Given the description of an element on the screen output the (x, y) to click on. 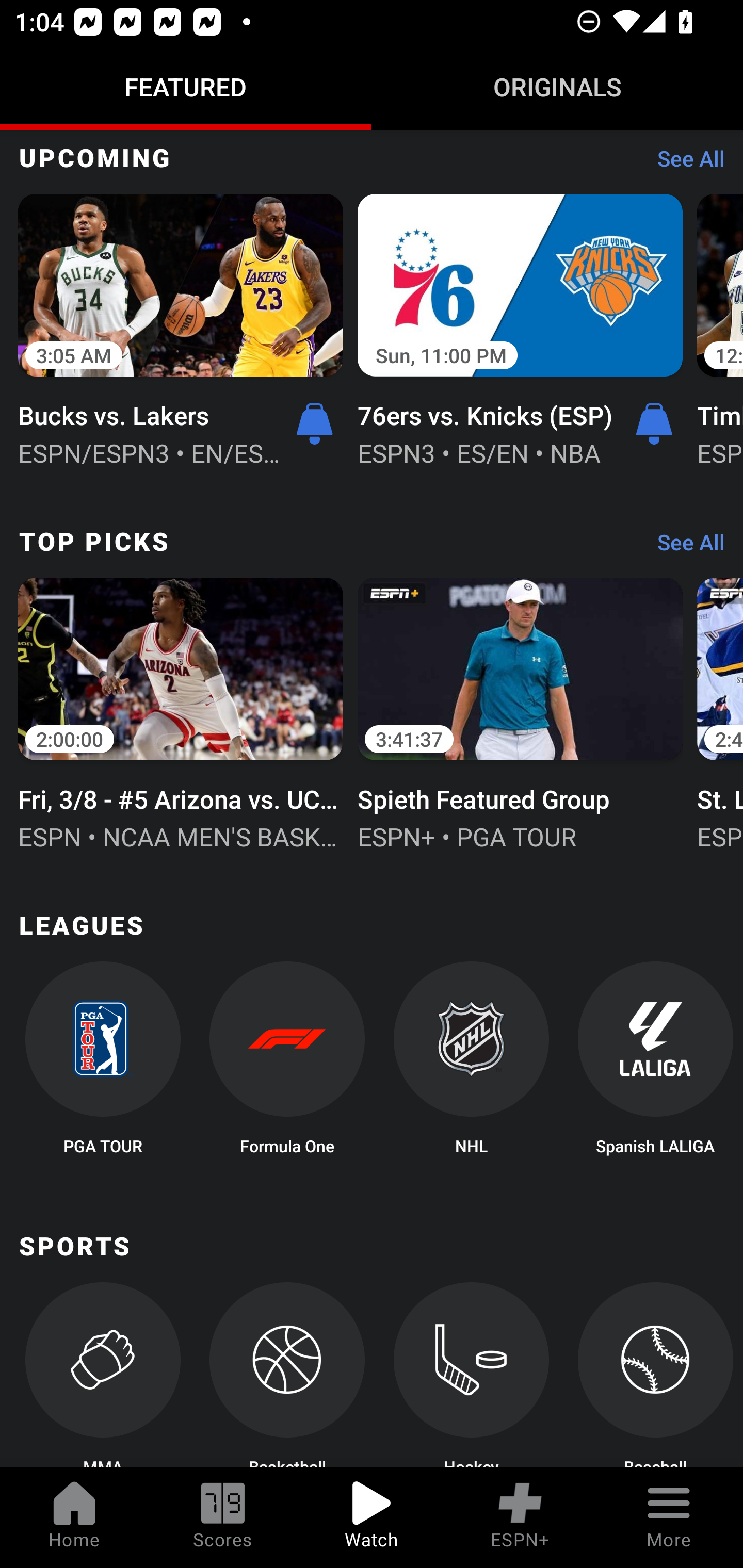
Originals ORIGINALS (557, 86)
See All (683, 162)
See All (683, 546)
3:41:37 Spieth Featured Group ESPN+ • PGA TOUR (519, 711)
PGA TOUR (102, 1063)
Formula One (286, 1063)
NHL (471, 1063)
Spanish LALIGA (655, 1063)
MMA (102, 1374)
Basketball (286, 1374)
Hockey (471, 1374)
Baseball (655, 1374)
Home (74, 1517)
Scores (222, 1517)
ESPN+ (519, 1517)
More (668, 1517)
